Given the description of an element on the screen output the (x, y) to click on. 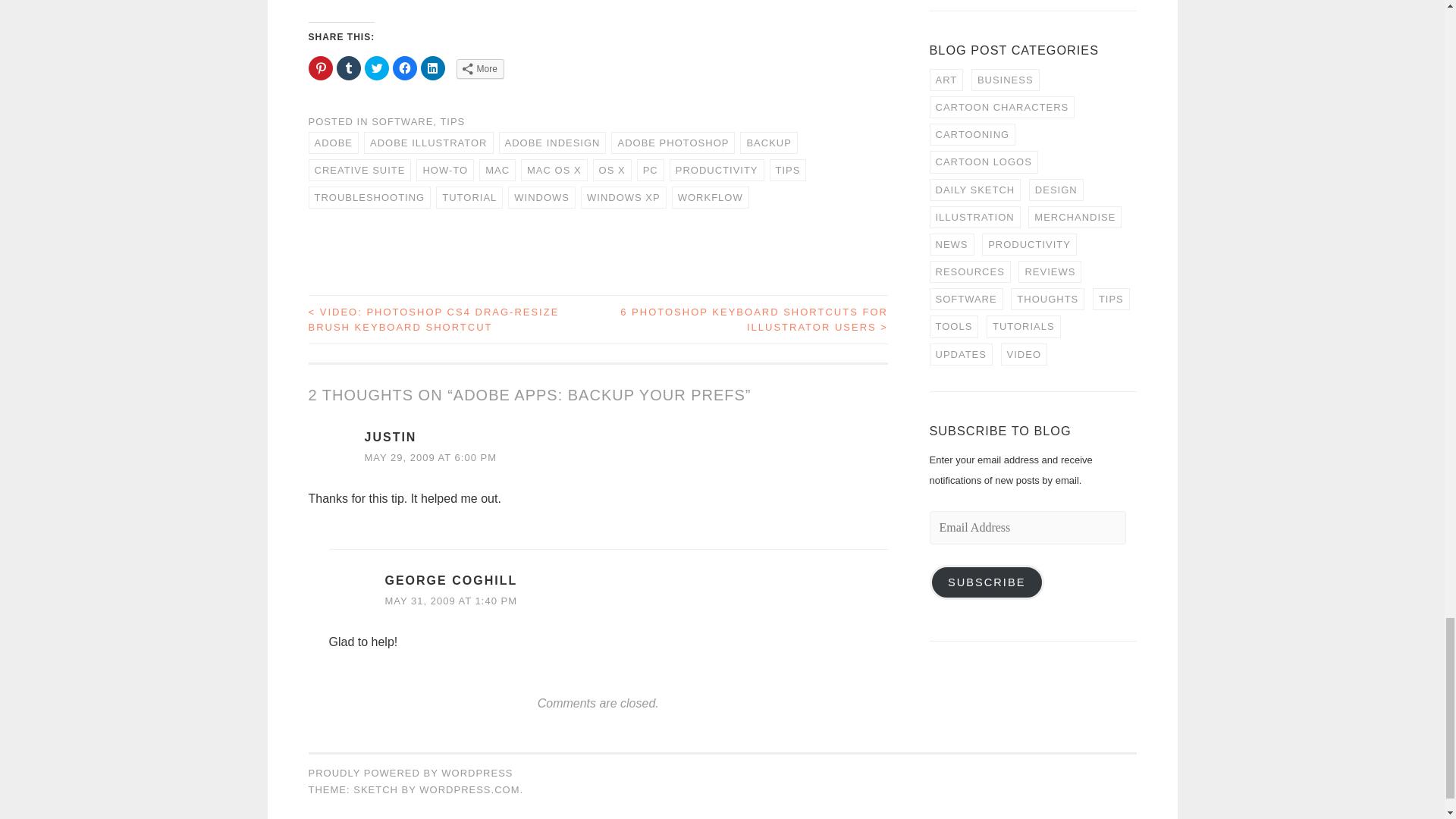
Click to share on Twitter (376, 68)
SOFTWARE (401, 121)
MAC (497, 169)
Click to share on LinkedIn (432, 68)
More (480, 68)
Click to share on Tumblr (348, 68)
ADOBE PHOTOSHOP (673, 142)
PRODUCTIVITY (716, 169)
TIPS (451, 121)
Click to share on Facebook (404, 68)
TIPS (788, 169)
HOW-TO (445, 169)
ADOBE (332, 142)
TROUBLESHOOTING (368, 197)
Click to share on Pinterest (319, 68)
